Given the description of an element on the screen output the (x, y) to click on. 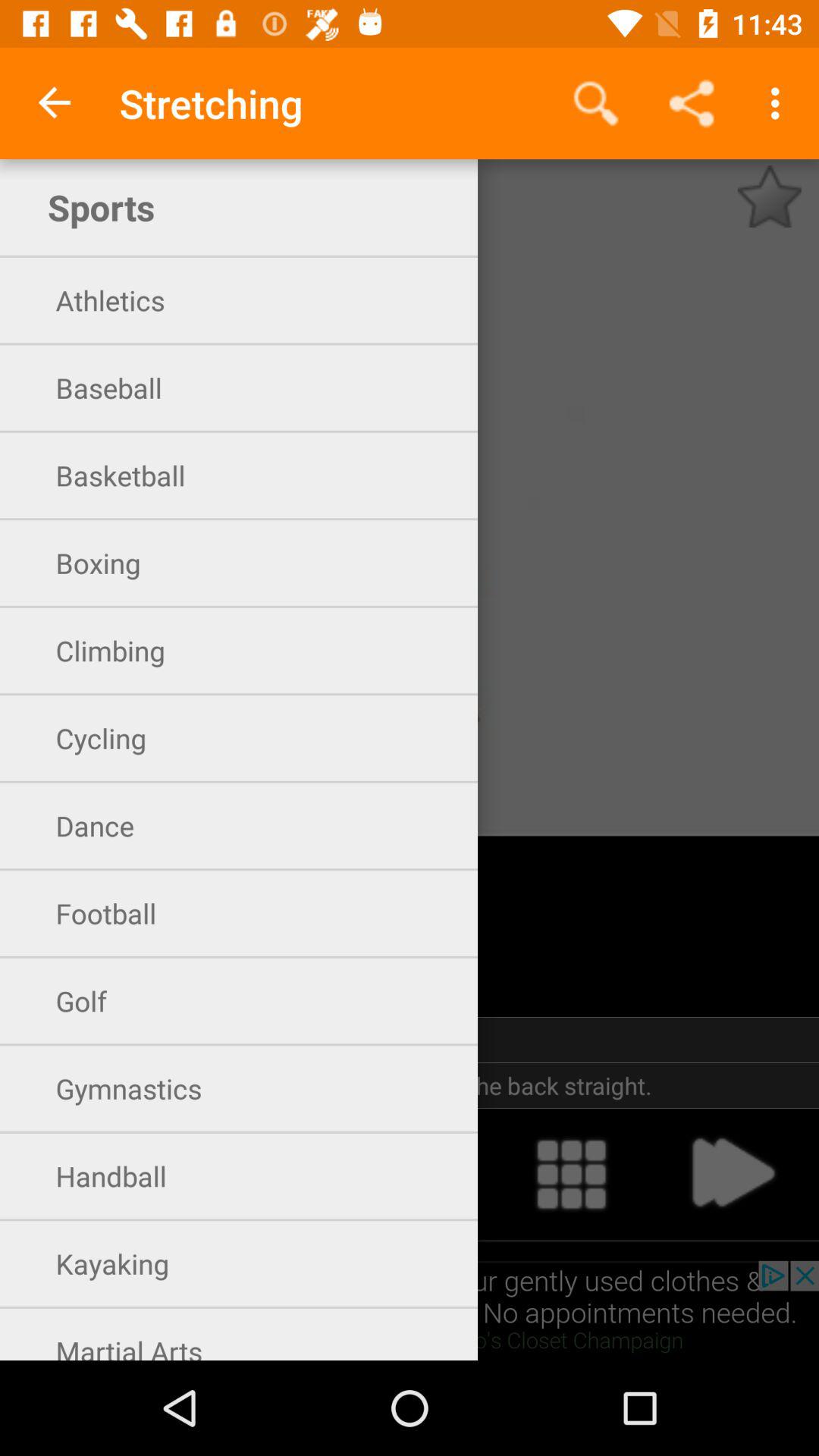
advance to the next screen (731, 1174)
